Given the description of an element on the screen output the (x, y) to click on. 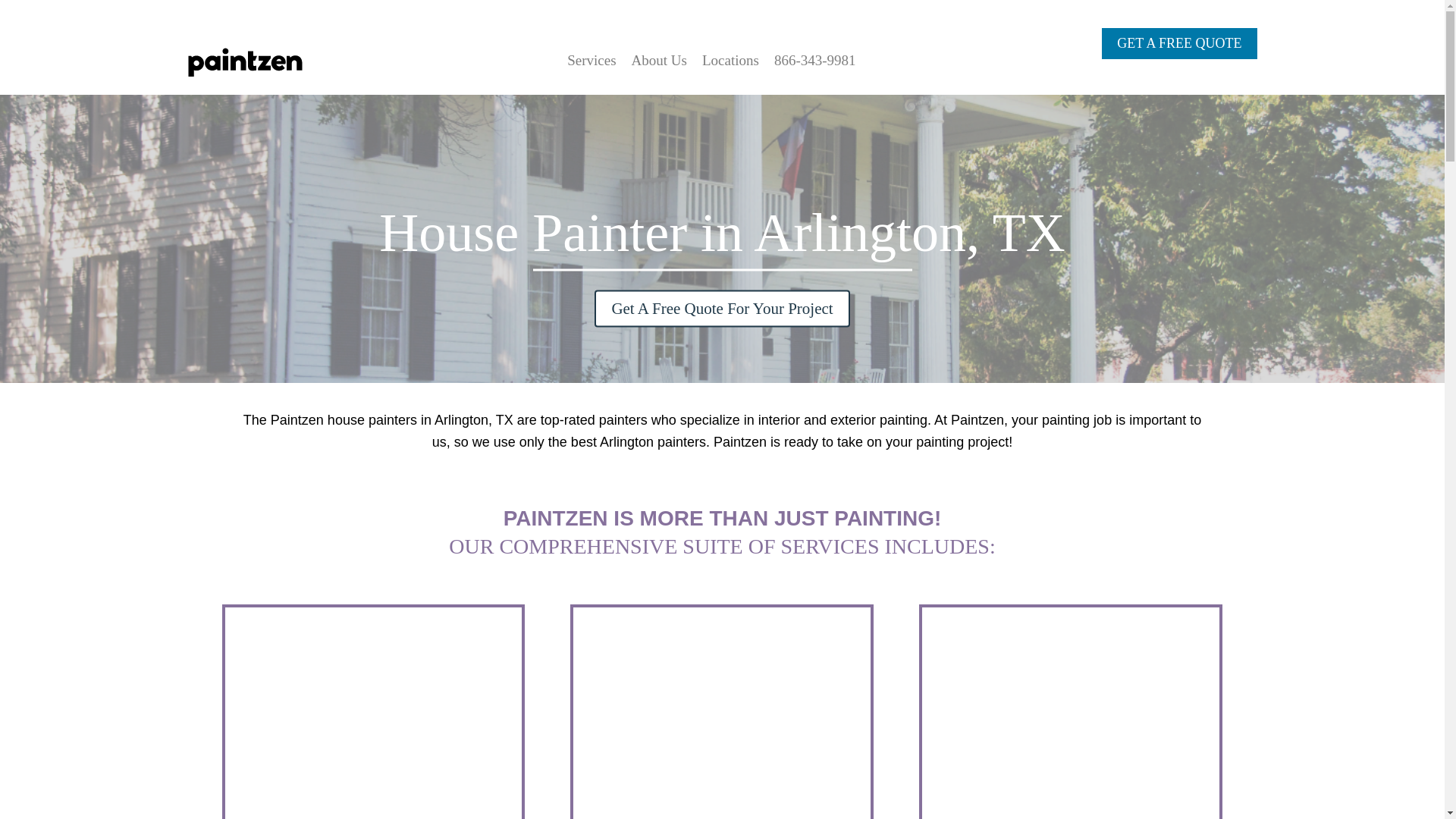
866-343-9981 (815, 60)
About Us (659, 60)
Locations (729, 60)
Services (591, 60)
